Given the description of an element on the screen output the (x, y) to click on. 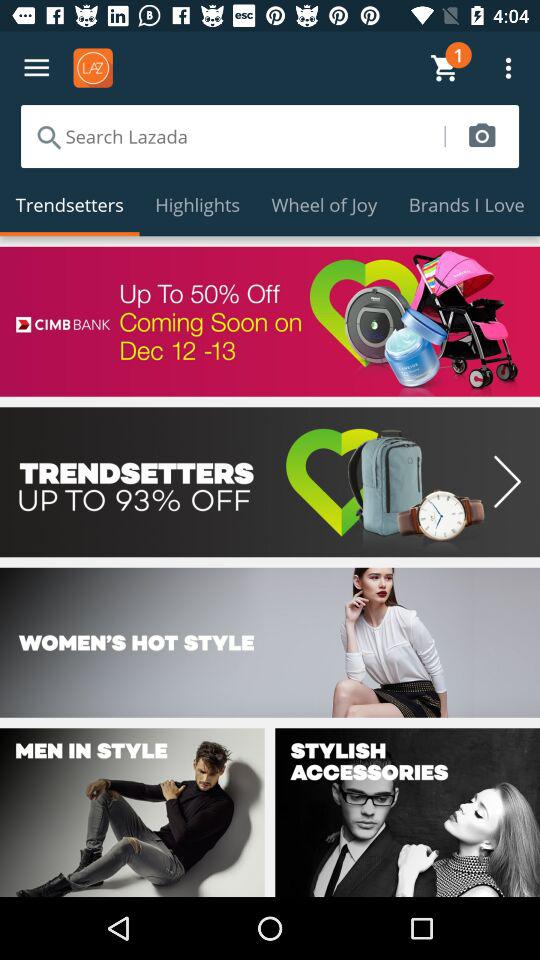
advertisement (270, 321)
